Given the description of an element on the screen output the (x, y) to click on. 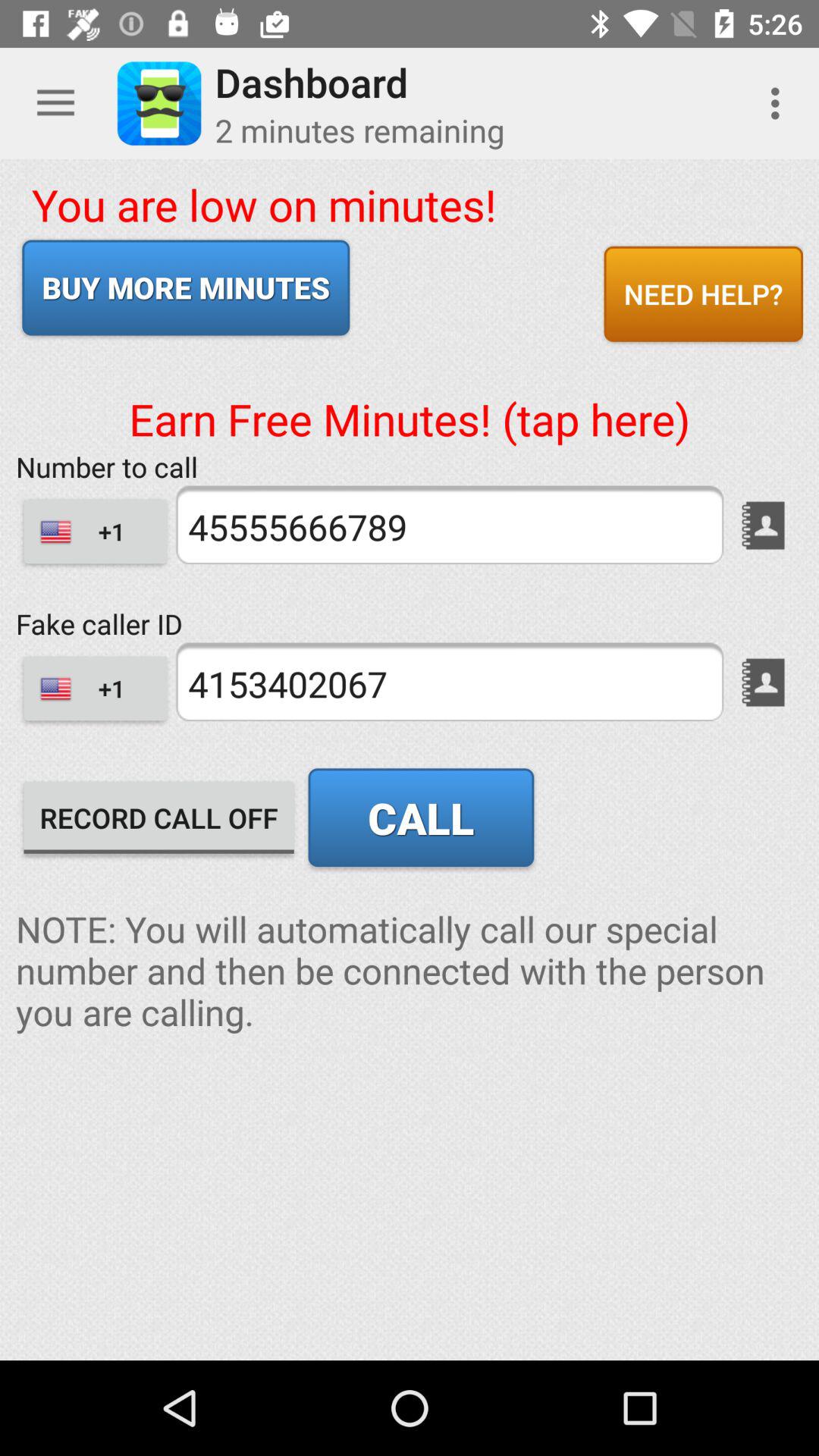
open the need help? item (703, 293)
